Given the description of an element on the screen output the (x, y) to click on. 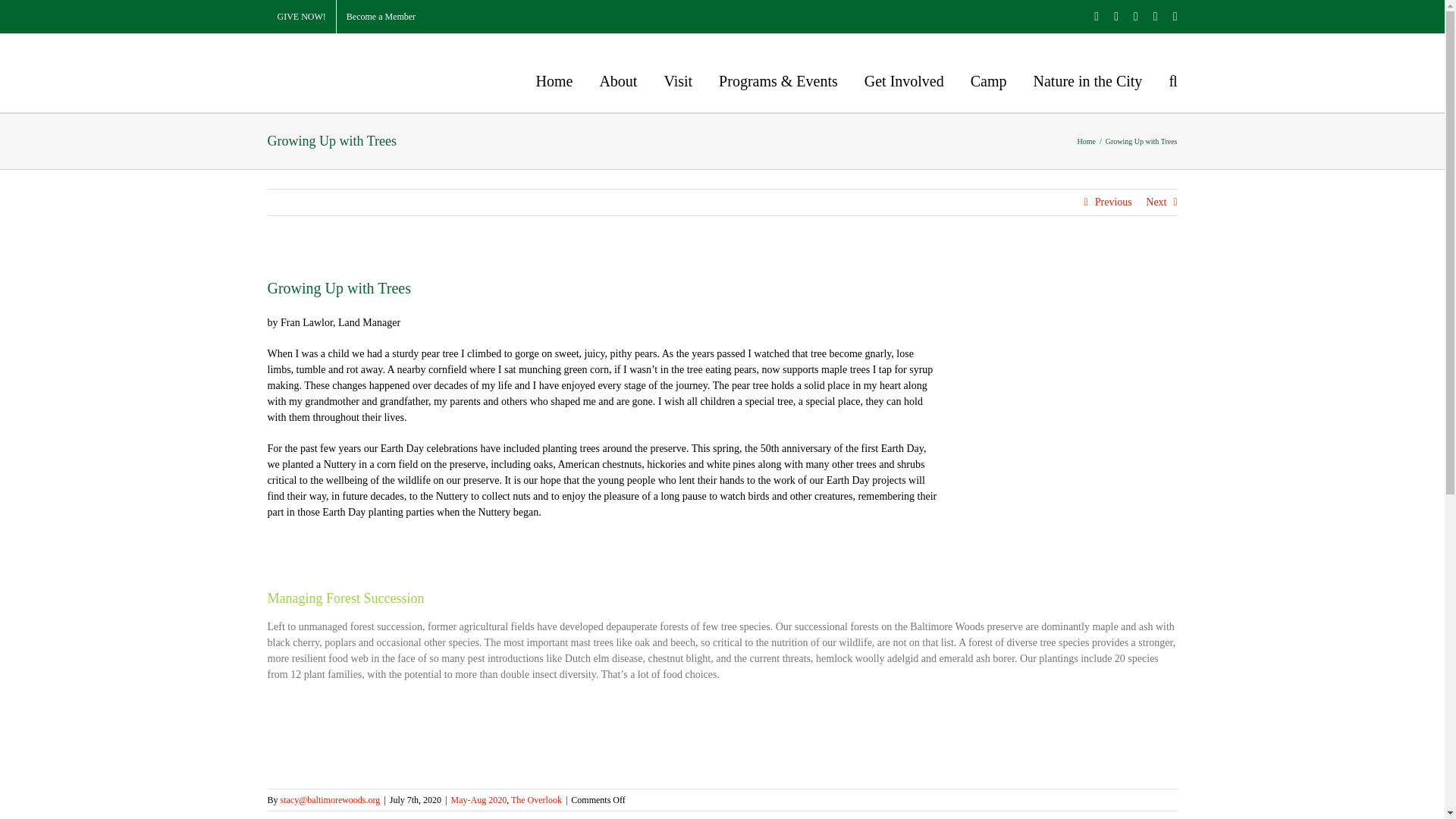
Instagram (1136, 16)
Facebook (1096, 16)
Search (1172, 80)
LinkedIn (1155, 16)
Facebook (1096, 16)
GIVE NOW! (300, 16)
Become a Member (380, 16)
Twitter (1115, 16)
Instagram (1136, 16)
Get Involved (903, 80)
YouTube (1175, 16)
LinkedIn (1155, 16)
About (617, 80)
YouTube (1175, 16)
Twitter (1115, 16)
